Given the description of an element on the screen output the (x, y) to click on. 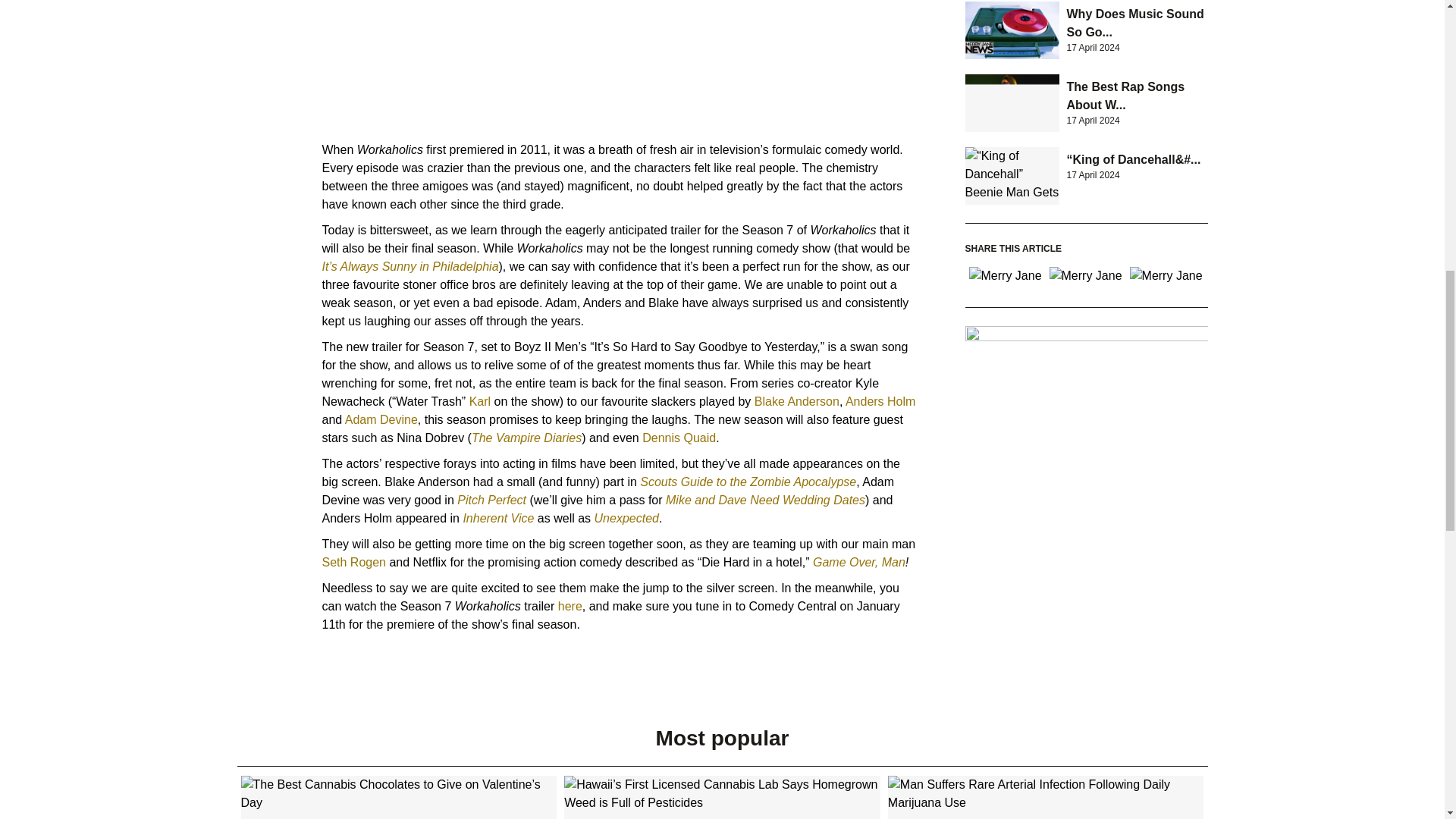
Why Does Music Sound So Go... (1134, 22)
Unexpected (626, 517)
Pitch Perfect (491, 499)
Blake Anderson (797, 400)
Adam Devine (381, 419)
The Best Rap Songs About W... (1125, 95)
Seth Rogen (353, 562)
Anders Holm (880, 400)
Inherent Vice (498, 517)
The Vampire Diaries (525, 437)
